Given the description of an element on the screen output the (x, y) to click on. 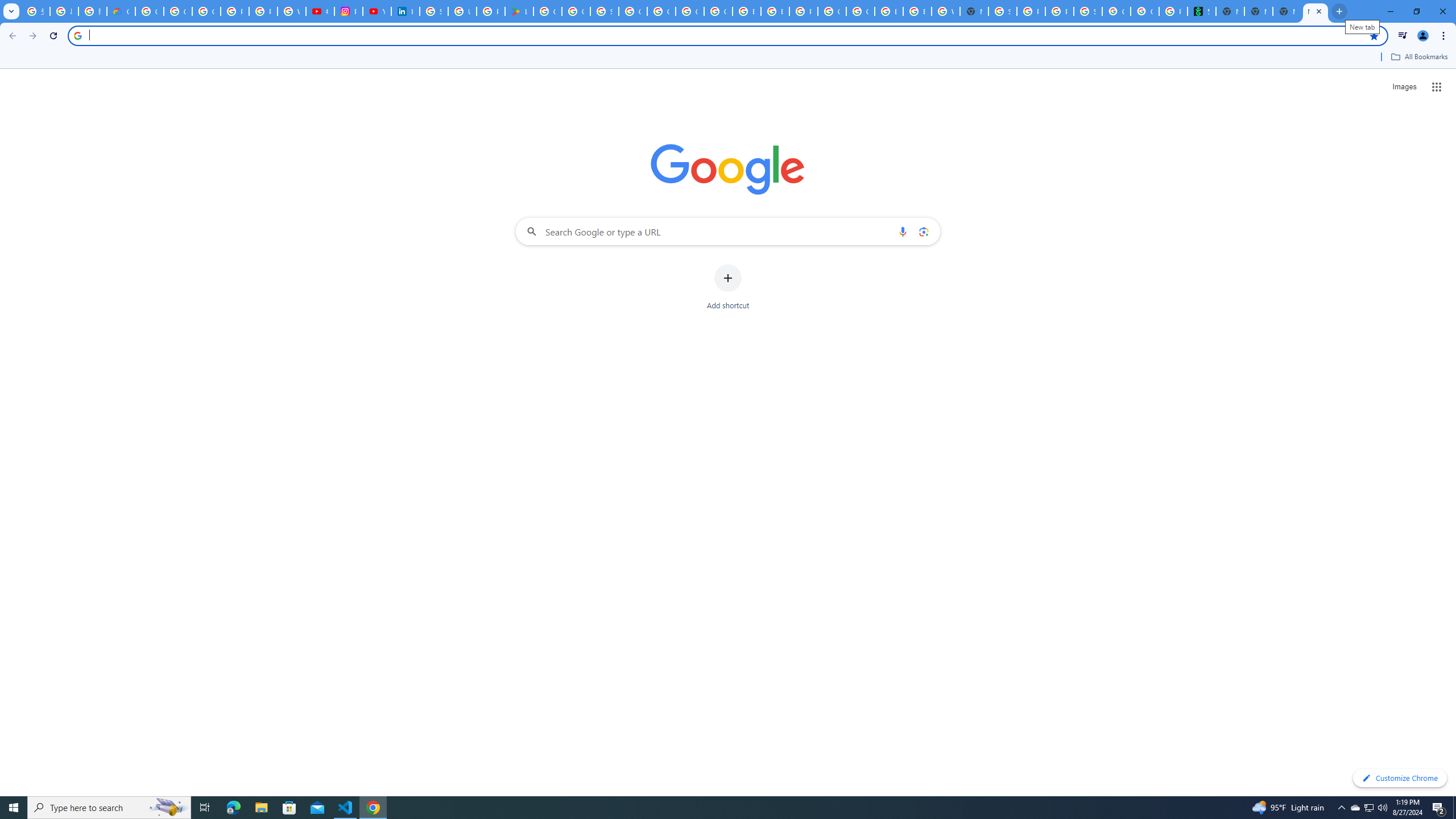
Google Workspace - Specific Terms (575, 11)
Search Google or type a URL (727, 230)
Privacy Help Center - Policies Help (263, 11)
